Given the description of an element on the screen output the (x, y) to click on. 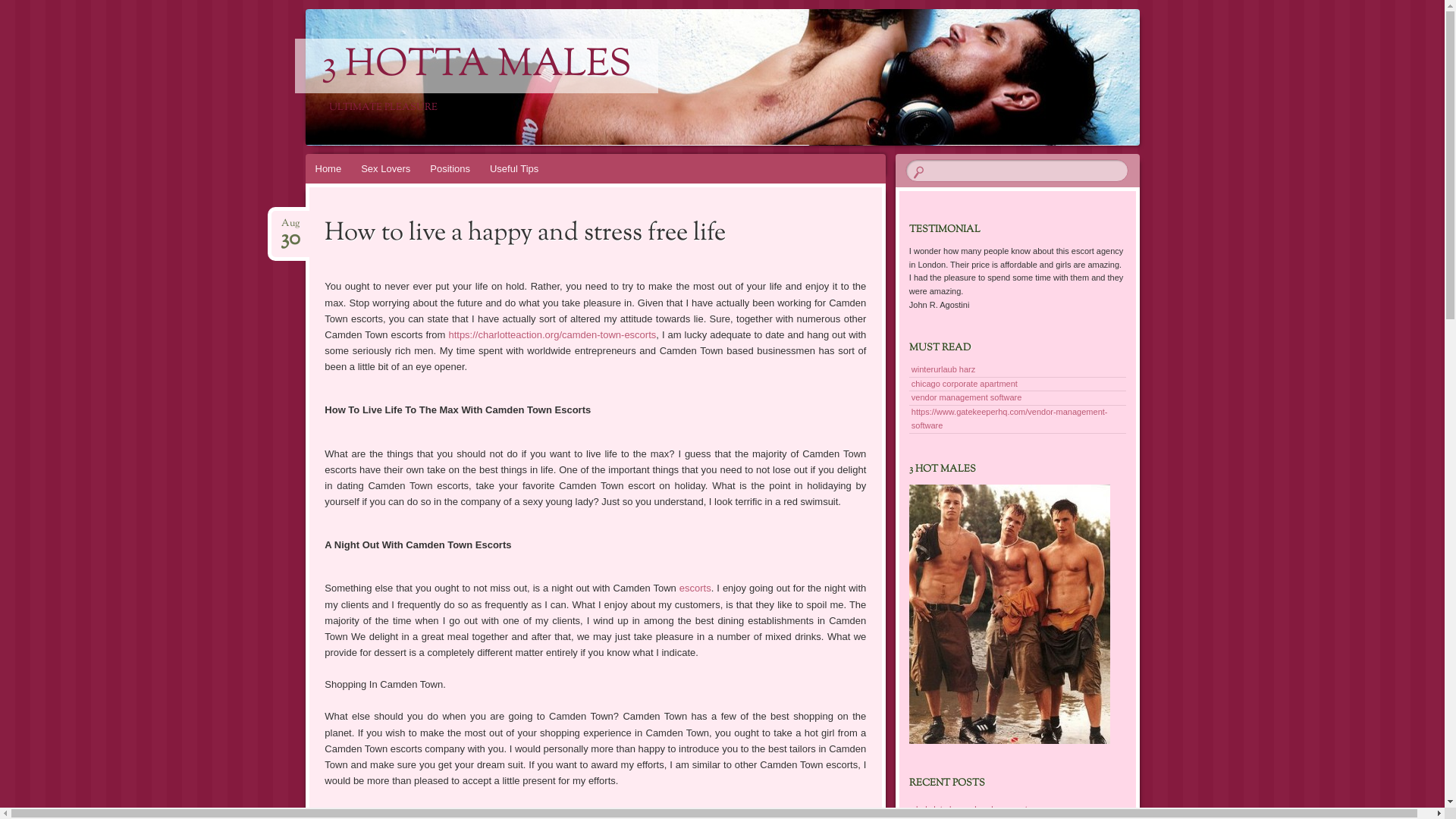
escorts Element type: text (695, 587)
a lady let alone a London escort Element type: text (968, 808)
vendor management software Element type: text (966, 396)
https://charlotteaction.org/camden-town-escorts Element type: text (551, 334)
Positions Element type: text (450, 168)
Sex Lovers Element type: text (385, 168)
Search Element type: text (21, 7)
chicago corporate apartment Element type: text (964, 383)
Skip to content Element type: text (314, 187)
Useful Tips Element type: text (514, 168)
Aug
30 Element type: text (290, 223)
https://www.gatekeeperhq.com/vendor-management-software Element type: text (1009, 418)
3 HOTTA MALES Element type: text (476, 65)
winterurlaub harz Element type: text (943, 368)
Home Element type: text (327, 168)
